Given the description of an element on the screen output the (x, y) to click on. 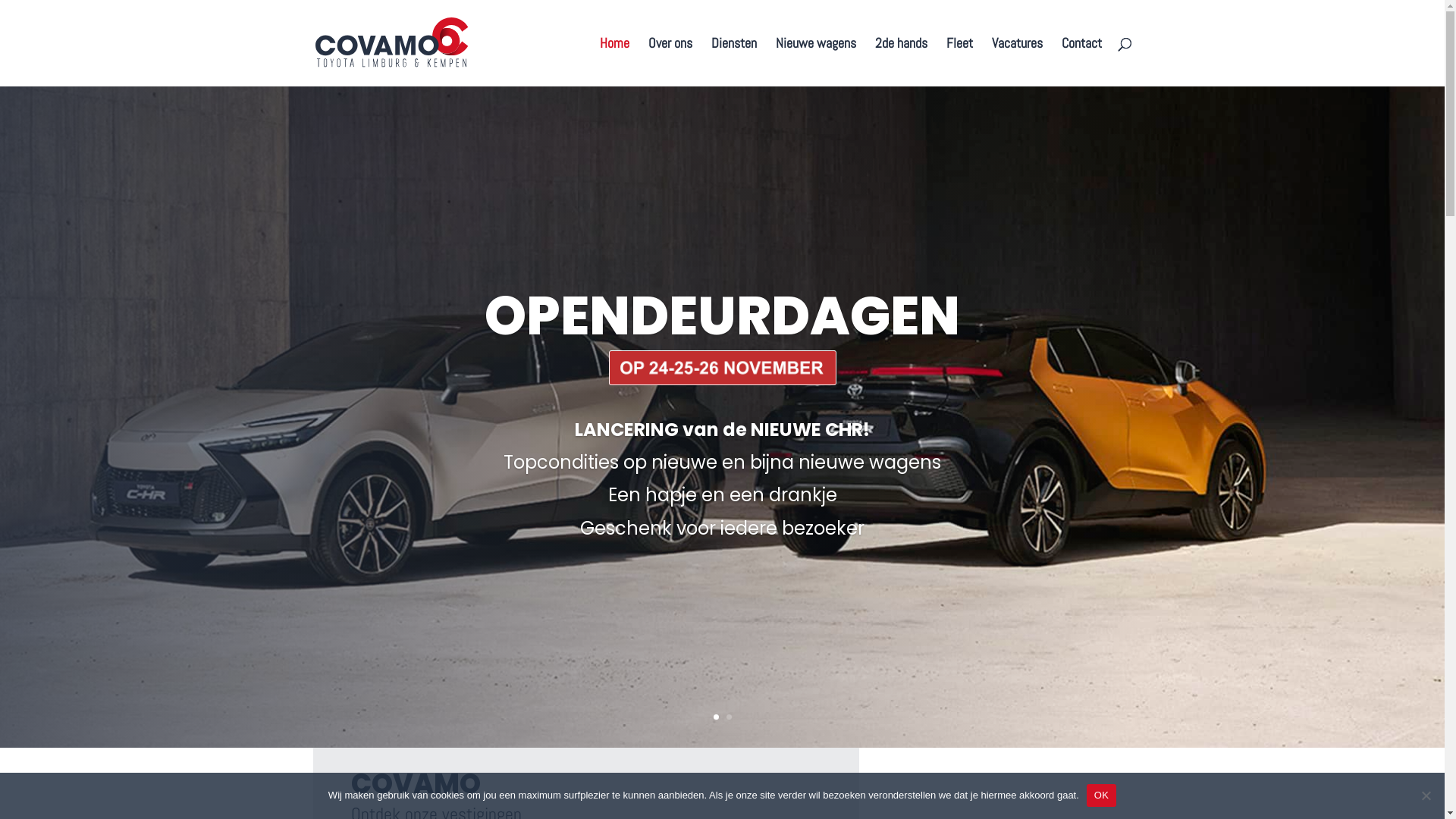
Over ons Element type: text (669, 61)
Fleet Element type: text (959, 61)
No Element type: hover (1425, 795)
OPENDEURDAGEN Element type: text (722, 315)
2 Element type: text (728, 716)
OK Element type: text (1101, 795)
2de hands Element type: text (901, 61)
Home Element type: text (613, 61)
1 Element type: text (715, 716)
Nieuwe wagens Element type: text (815, 61)
Vacatures Element type: text (1016, 61)
Contact Element type: text (1081, 61)
Diensten Element type: text (733, 61)
